Given the description of an element on the screen output the (x, y) to click on. 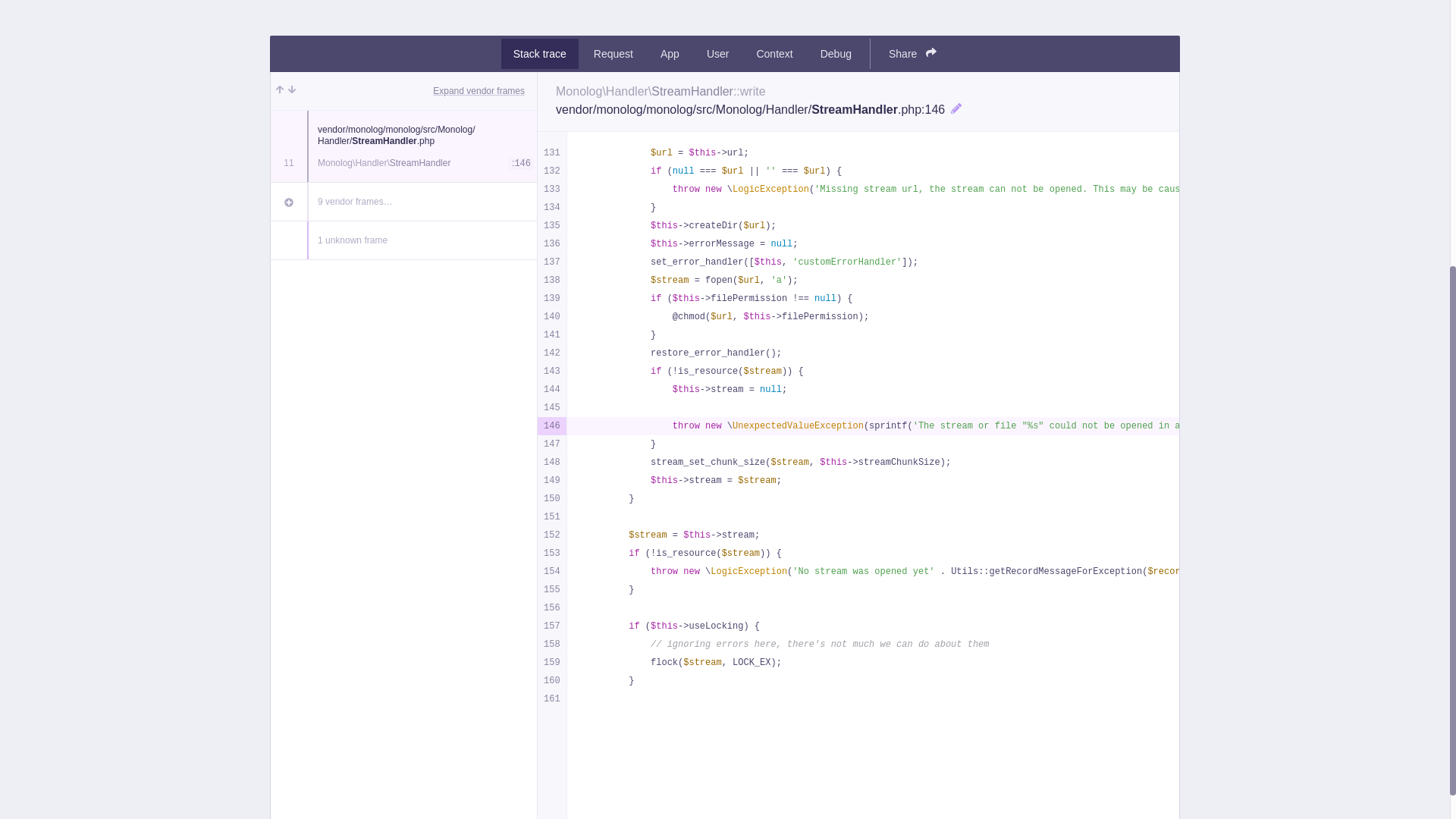
Share (912, 53)
Stack trace (539, 53)
Expand vendor frames (478, 90)
Debug (835, 53)
App (669, 53)
Context (774, 53)
User (717, 53)
Request (612, 53)
